Given the description of an element on the screen output the (x, y) to click on. 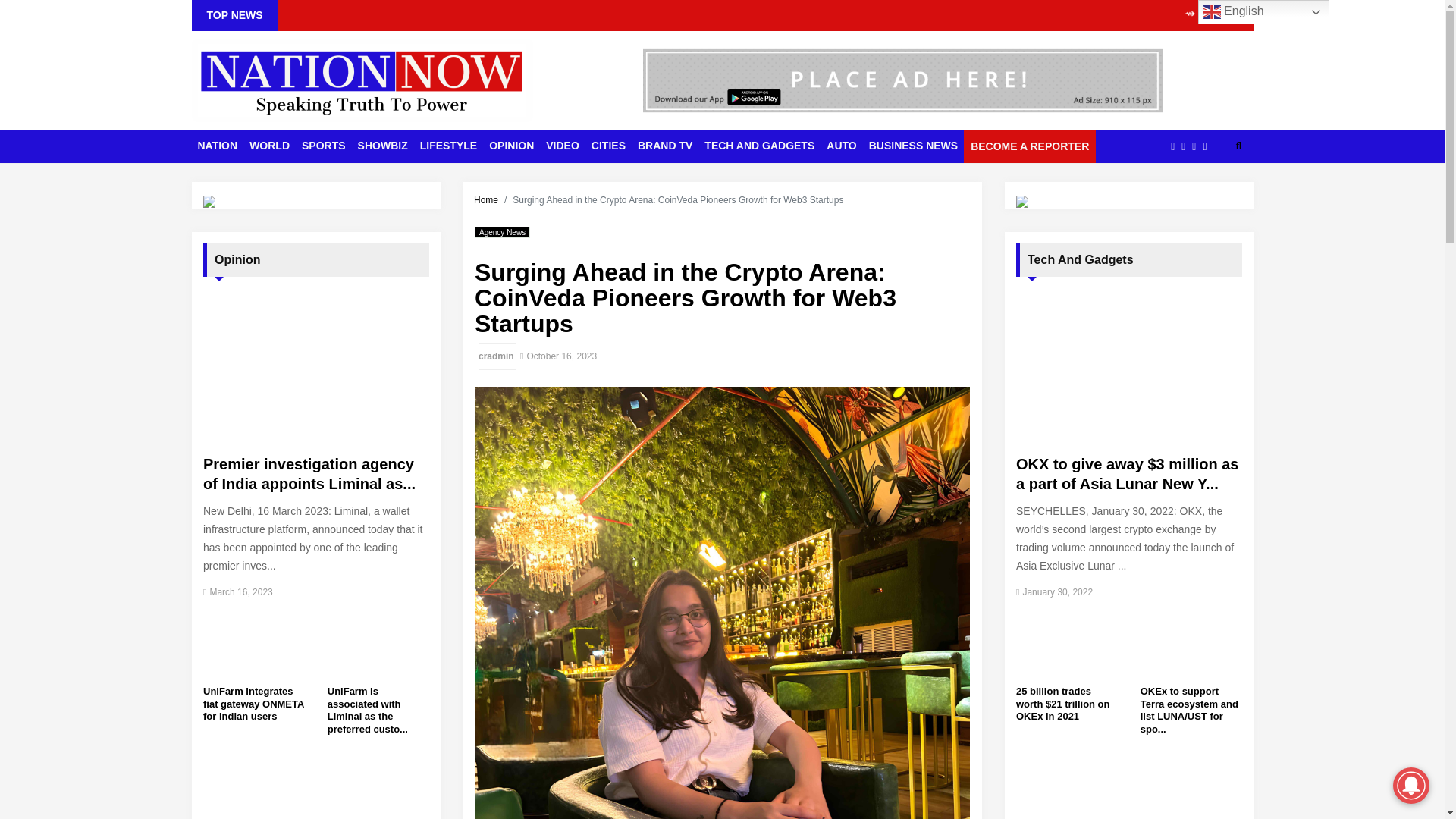
BECOME A REPORTER (1029, 146)
AUTO (841, 145)
CITIES (608, 145)
NATION (216, 145)
VIDEO (562, 145)
LIFESTYLE (448, 145)
BRAND TV (664, 145)
OPINION (511, 145)
BUSINESS NEWS (913, 145)
SHOWBIZ (382, 145)
Opinion (316, 259)
SPORTS (323, 145)
TECH AND GADGETS (759, 145)
WORLD (269, 145)
